Given the description of an element on the screen output the (x, y) to click on. 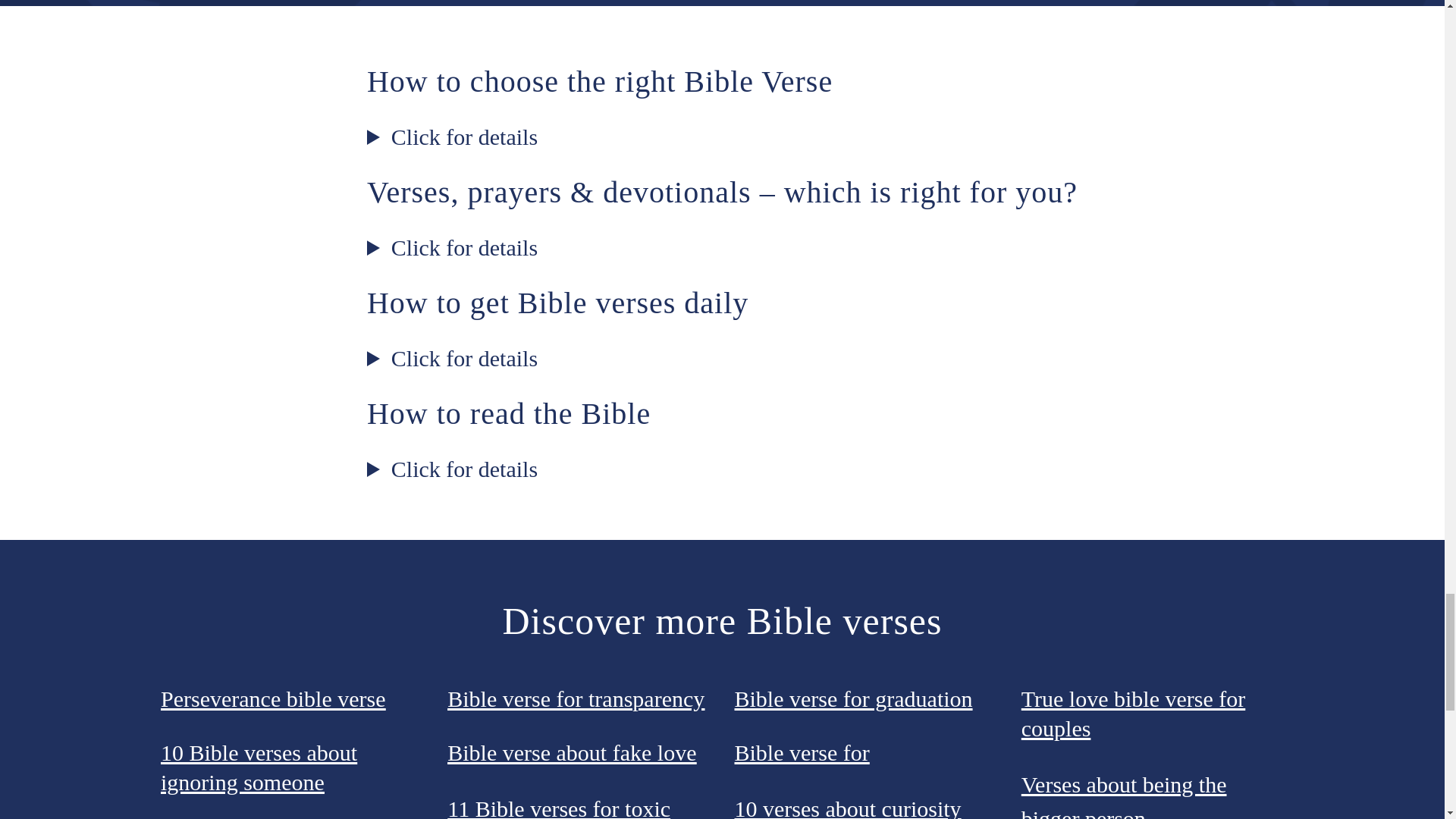
Bible verse about fake love (570, 752)
Bible verse for transparency (575, 697)
Perseverance bible verse (272, 697)
11 Bible verses for toxic workplaces (557, 807)
10 Bible verses about ignoring someone (258, 767)
